Given the description of an element on the screen output the (x, y) to click on. 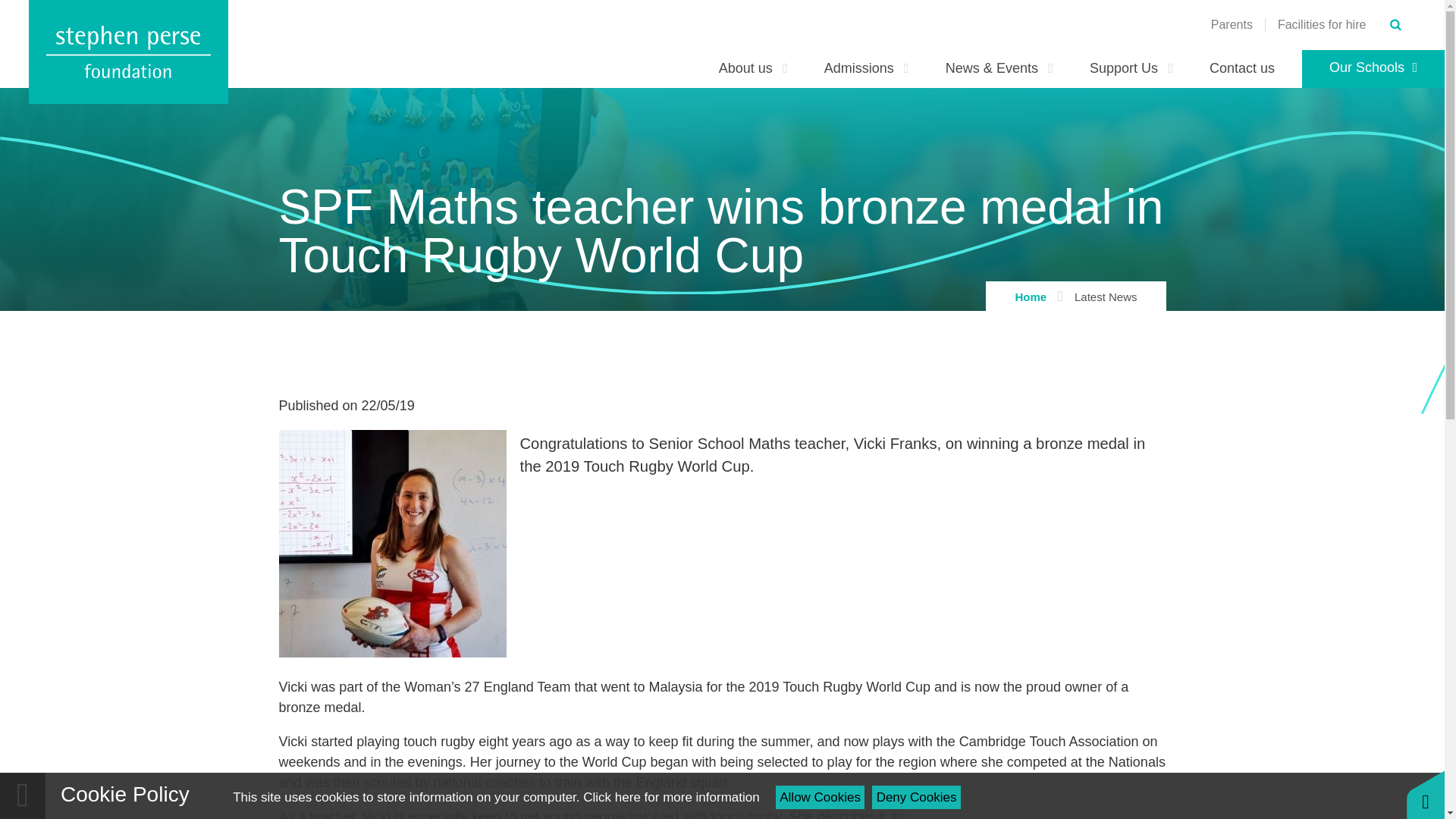
See cookie policy (670, 797)
About us (753, 67)
Admissions (866, 67)
Allow Cookies (820, 797)
Facilities for hire (1321, 24)
home (128, 52)
Parents (1231, 24)
